Given the description of an element on the screen output the (x, y) to click on. 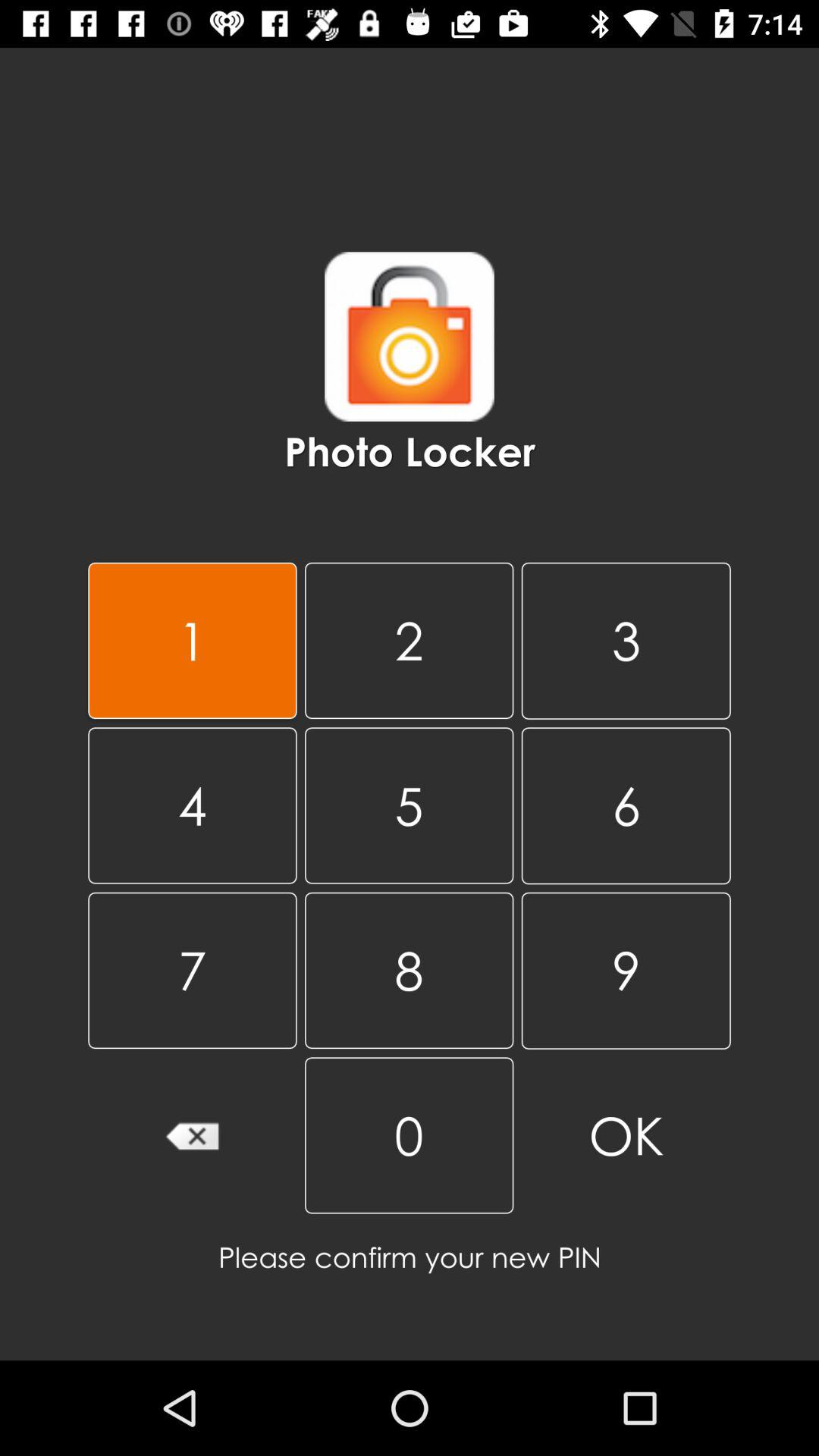
delete (192, 1135)
